Given the description of an element on the screen output the (x, y) to click on. 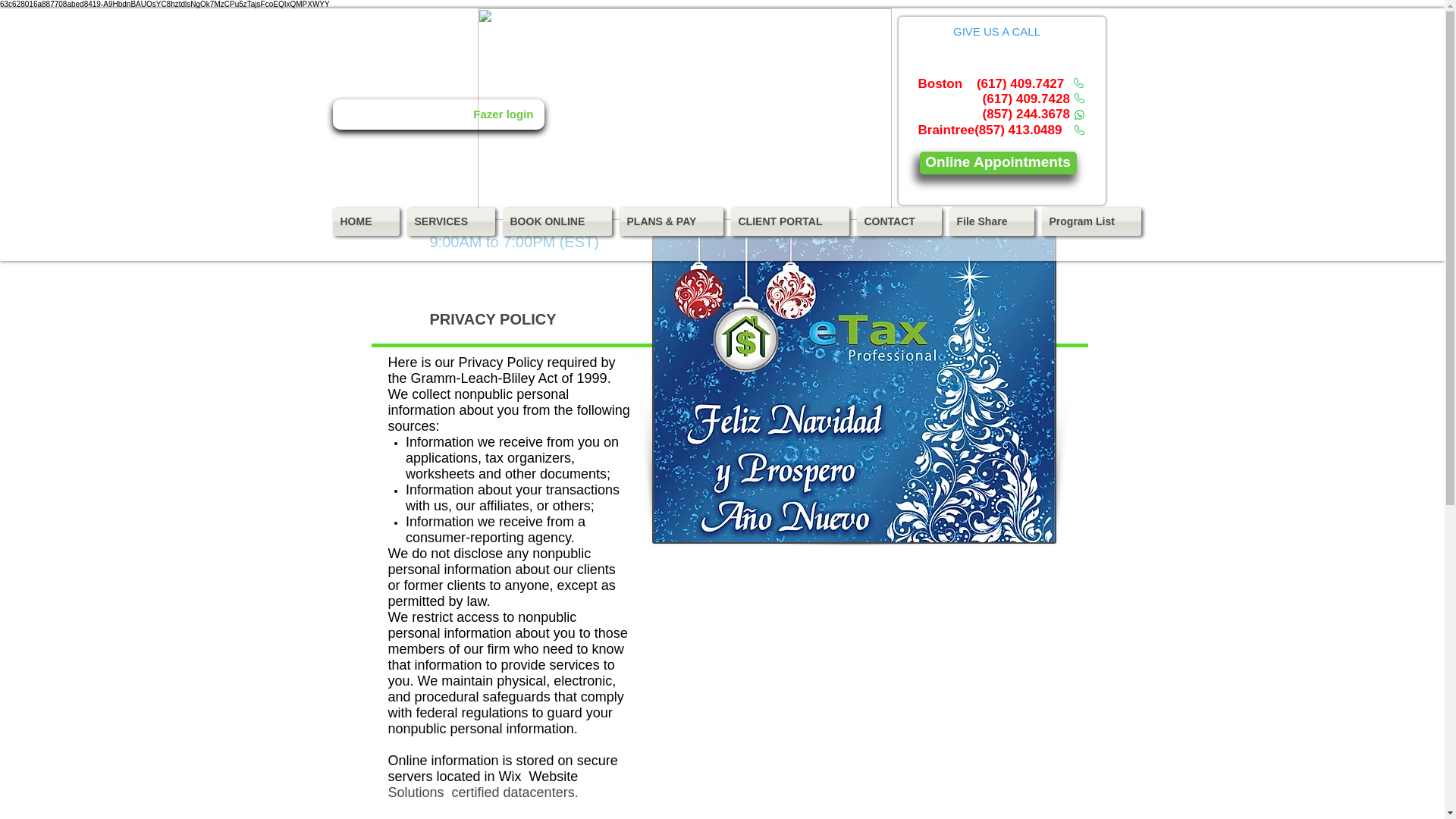
HOME (367, 221)
File Share (990, 221)
CONTACT (897, 221)
CLIENT PORTAL (788, 221)
SERVICES (451, 221)
Online Appointments (996, 162)
Program List (1088, 221)
Fazer login (503, 114)
BOOK ONLINE (557, 221)
